Given the description of an element on the screen output the (x, y) to click on. 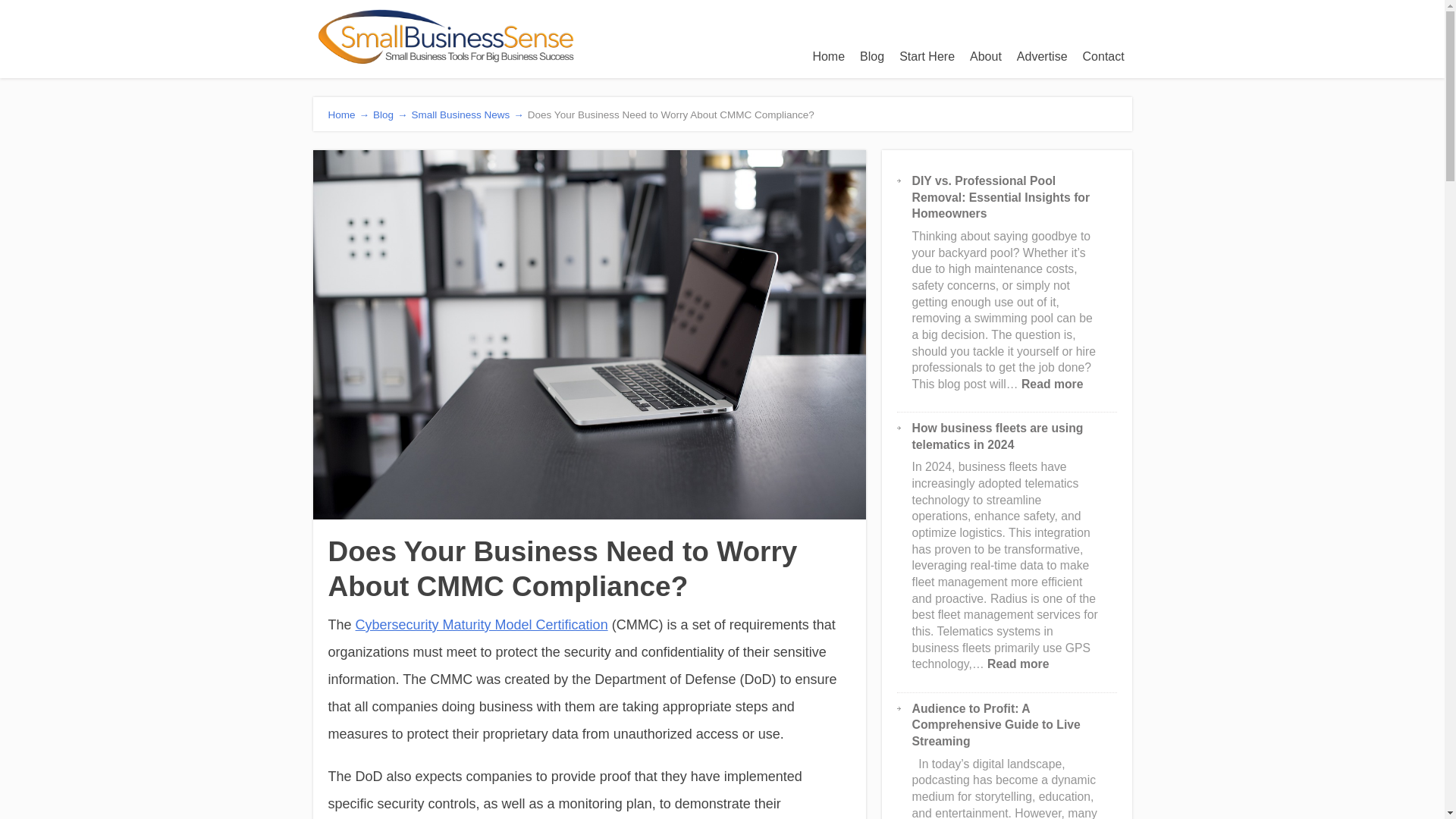
Home (828, 56)
Audience to Profit: A Comprehensive Guide to Live Streaming (996, 724)
Start Here (926, 56)
Blog (871, 56)
Cybersecurity Maturity Model Certification (481, 624)
Contact (1103, 56)
Does Your Business Need to Worry About CMMC Compliance? (1017, 663)
About (1042, 56)
How business fleets are using telematics in 2024 (985, 56)
